Given the description of an element on the screen output the (x, y) to click on. 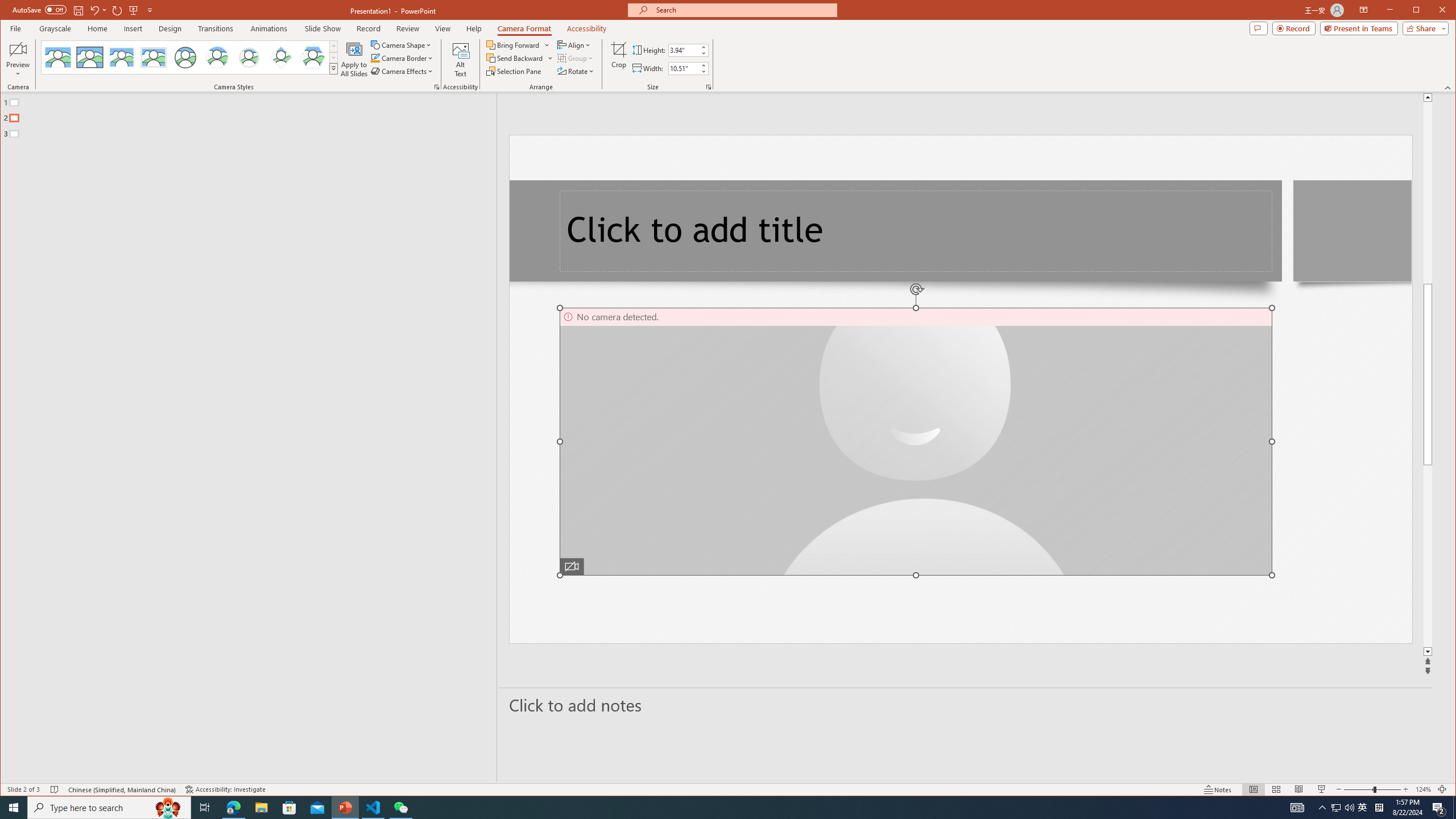
Bring Forward (513, 44)
Center Shadow Diamond (280, 57)
Camera Effects (402, 70)
No Style (58, 57)
